Given the description of an element on the screen output the (x, y) to click on. 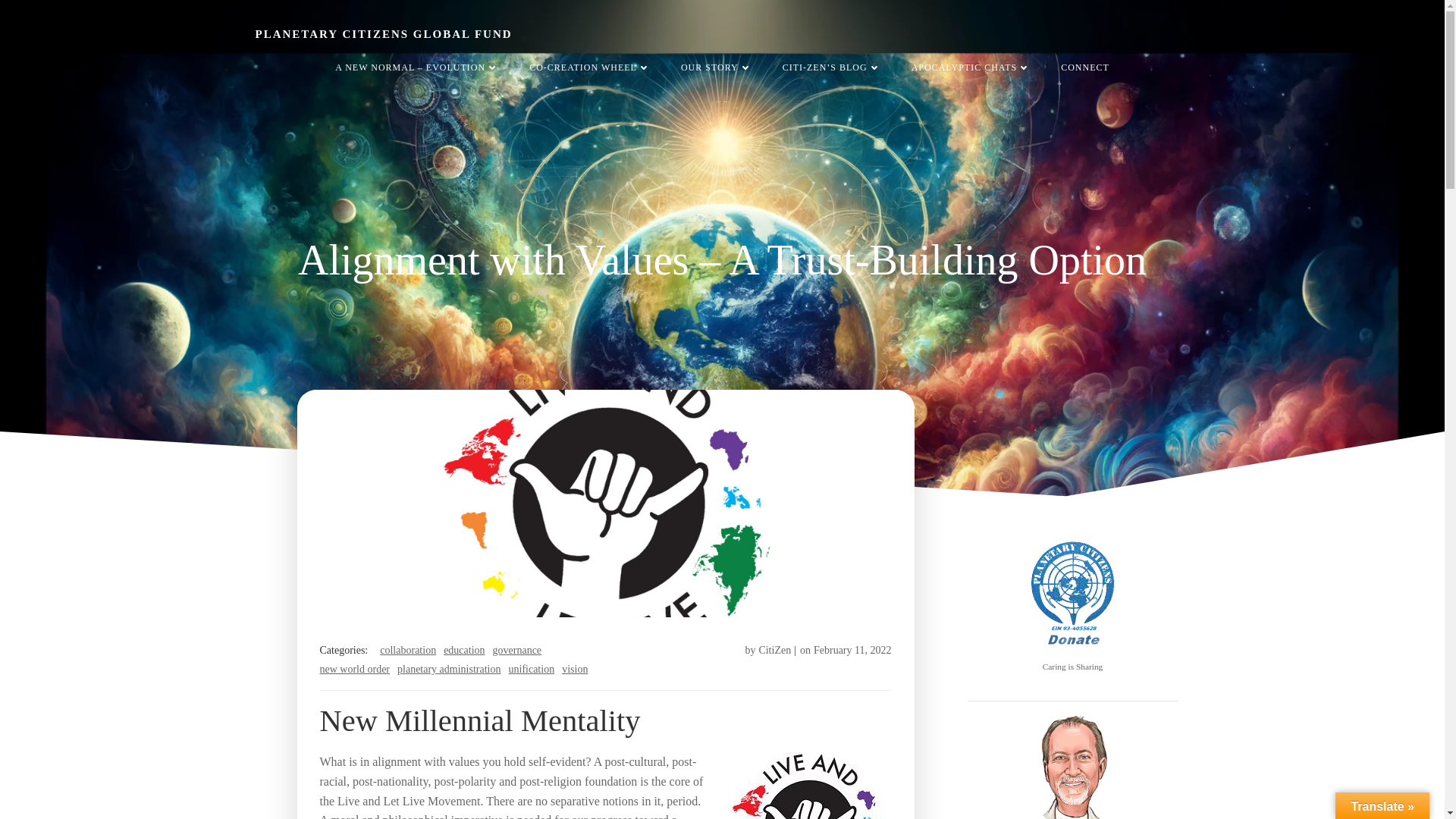
vision (575, 668)
new world order (355, 668)
governance (517, 650)
CitiZen (774, 650)
PLANETARY CITIZENS GLOBAL FUND (383, 34)
collaboration (407, 650)
CO-CREATION WHEEL (589, 67)
February 11, 2022 (852, 650)
APOCALYPTIC CHATS (970, 67)
OUR STORY (716, 67)
unification (531, 668)
CONNECT (1085, 67)
education (464, 650)
planetary administration (448, 668)
